Given the description of an element on the screen output the (x, y) to click on. 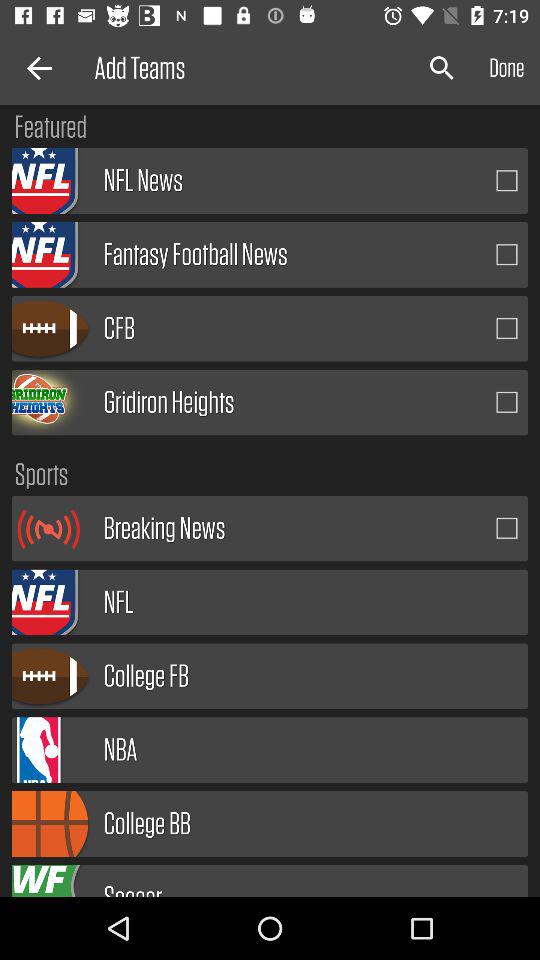
checking this box will bring me breaking sports news alerts (507, 528)
